Given the description of an element on the screen output the (x, y) to click on. 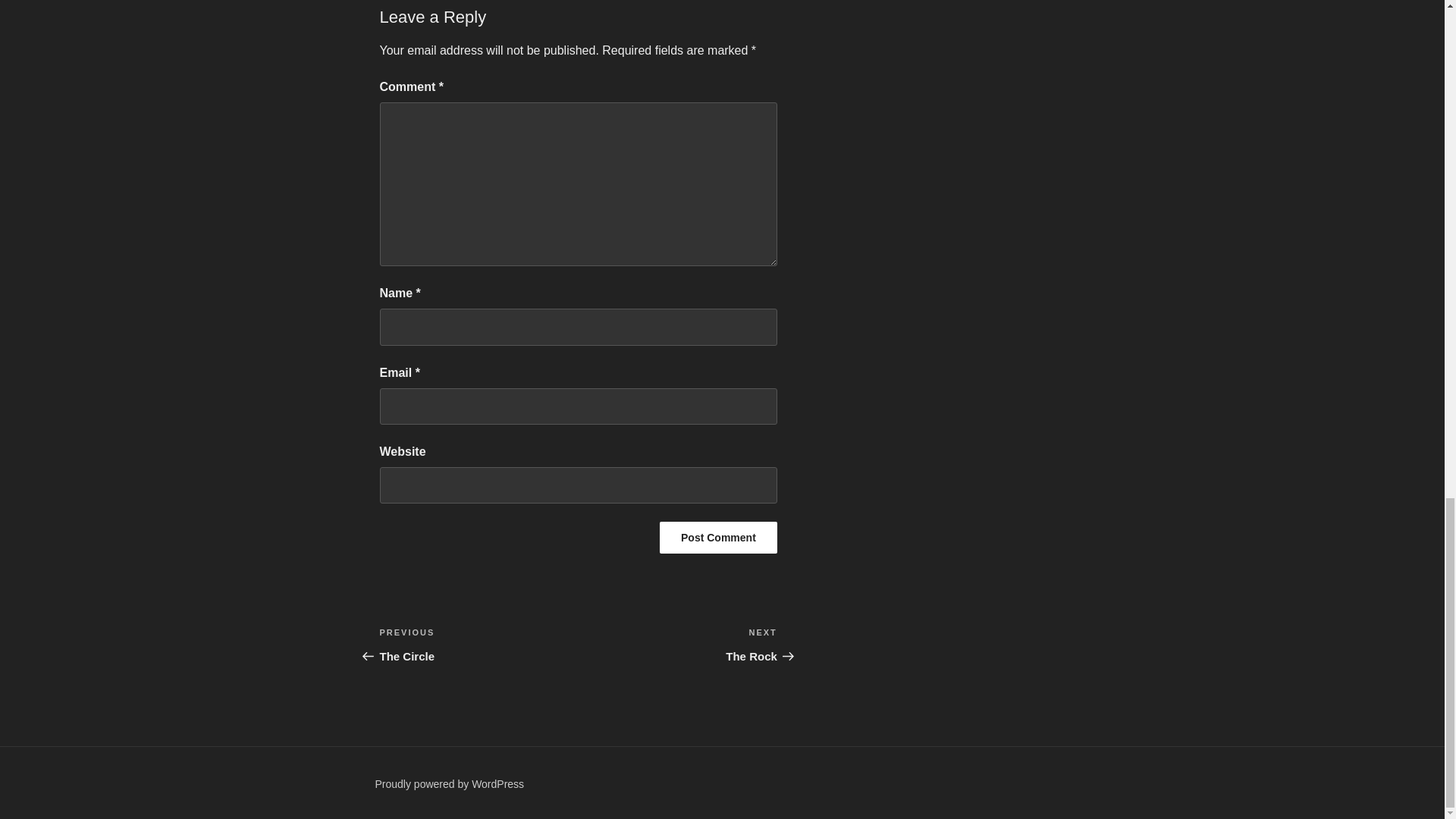
Proudly powered by WordPress (677, 644)
Post Comment (449, 784)
Post Comment (718, 537)
